Given the description of an element on the screen output the (x, y) to click on. 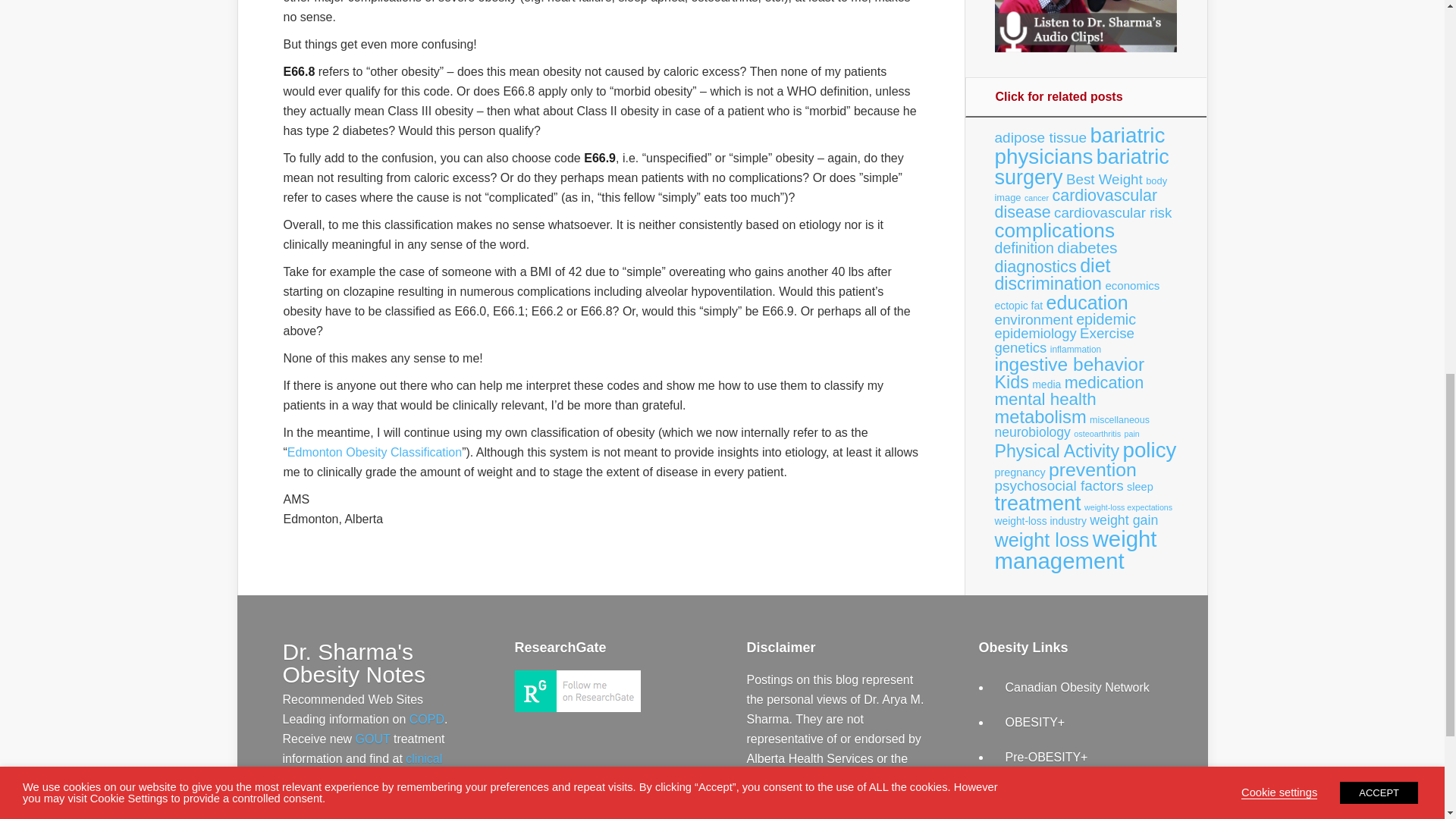
Weight Wise (1040, 791)
Gout Institute (372, 738)
economics (1131, 285)
bariatric physicians (1080, 145)
Canadian Obesity Network (1078, 686)
diet (1094, 265)
education (1087, 301)
cardiovascular disease (1075, 203)
complications (1054, 230)
Edmonton Obesity Classification (373, 451)
diagnostics (1035, 266)
discrimination (1048, 283)
Arya Mitra Sharma (576, 707)
adipose tissue (1040, 137)
bariatric surgery (1081, 167)
